Given the description of an element on the screen output the (x, y) to click on. 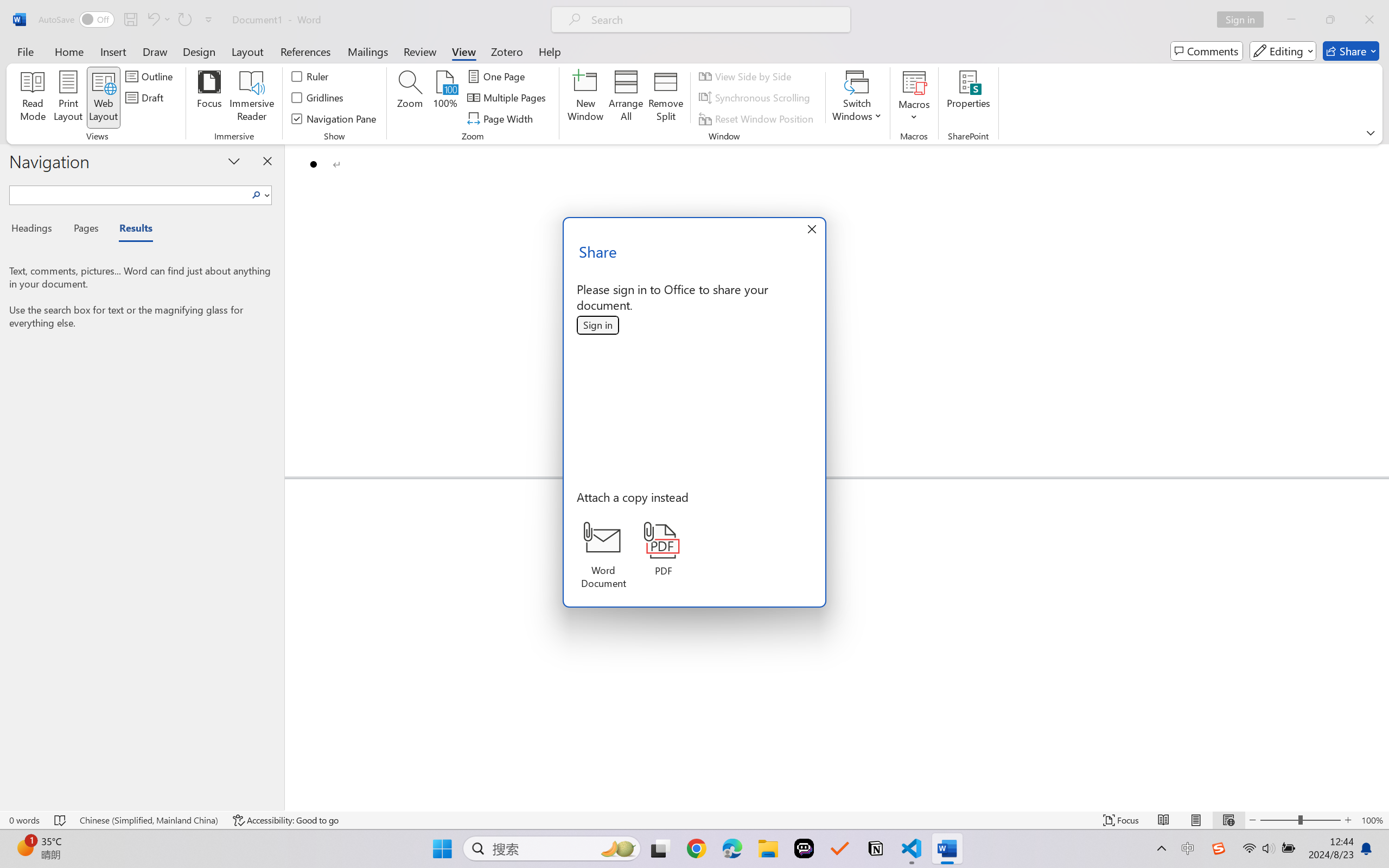
Pages (85, 229)
New Window (585, 97)
Ruler (309, 75)
Headings (35, 229)
Gridlines (317, 97)
Immersive Reader (251, 97)
